Given the description of an element on the screen output the (x, y) to click on. 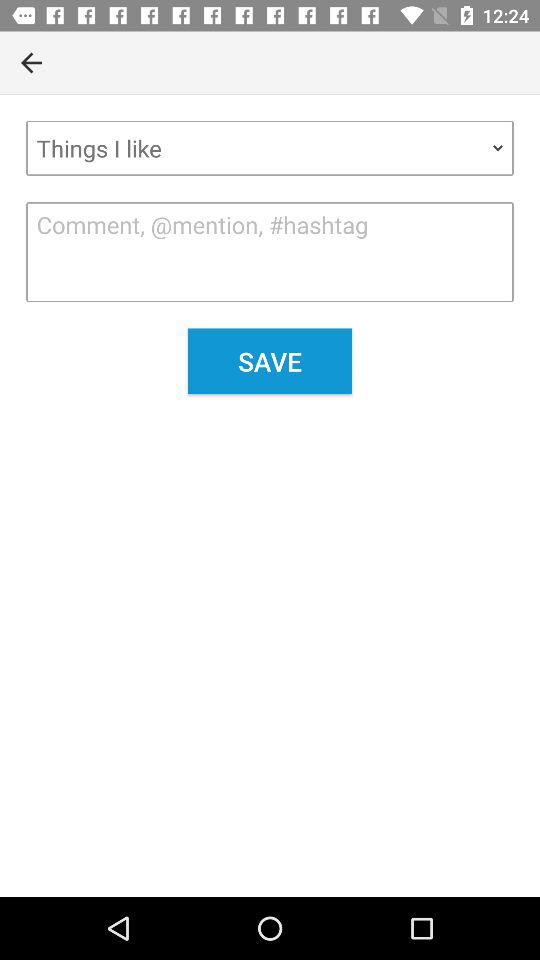
comment box (269, 252)
